Given the description of an element on the screen output the (x, y) to click on. 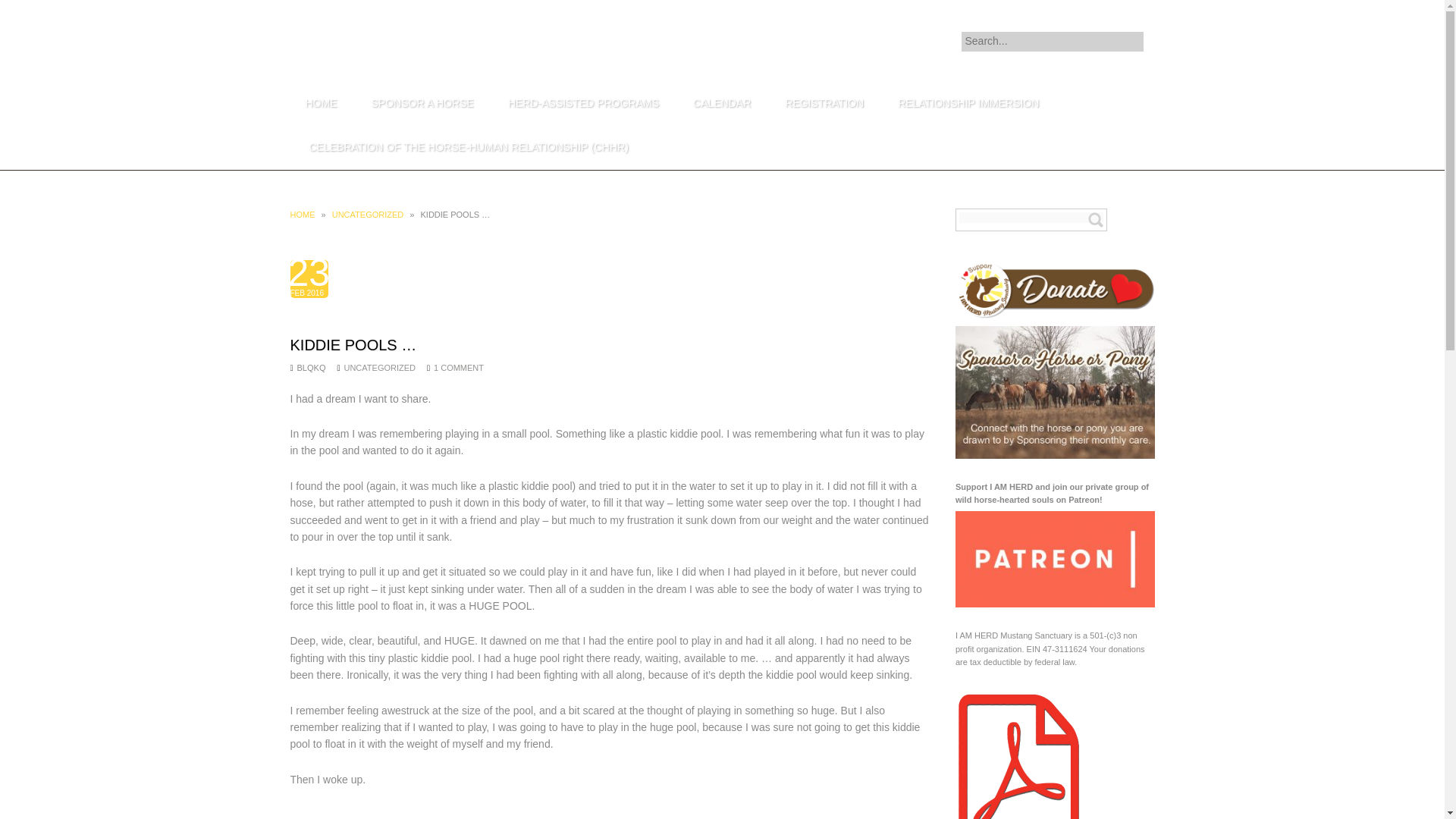
REGISTRATION (824, 103)
HERD-ASSISTED PROGRAMS (583, 103)
CALENDAR (721, 103)
SPONSOR A HORSE (422, 103)
HOME (320, 103)
RELATIONSHIP IMMERSION (968, 103)
I AM HERD (356, 59)
UNCATEGORIZED (378, 367)
Search (1095, 219)
UNCATEGORIZED (367, 214)
1 COMMENT (458, 367)
HOME (301, 214)
